Given the description of an element on the screen output the (x, y) to click on. 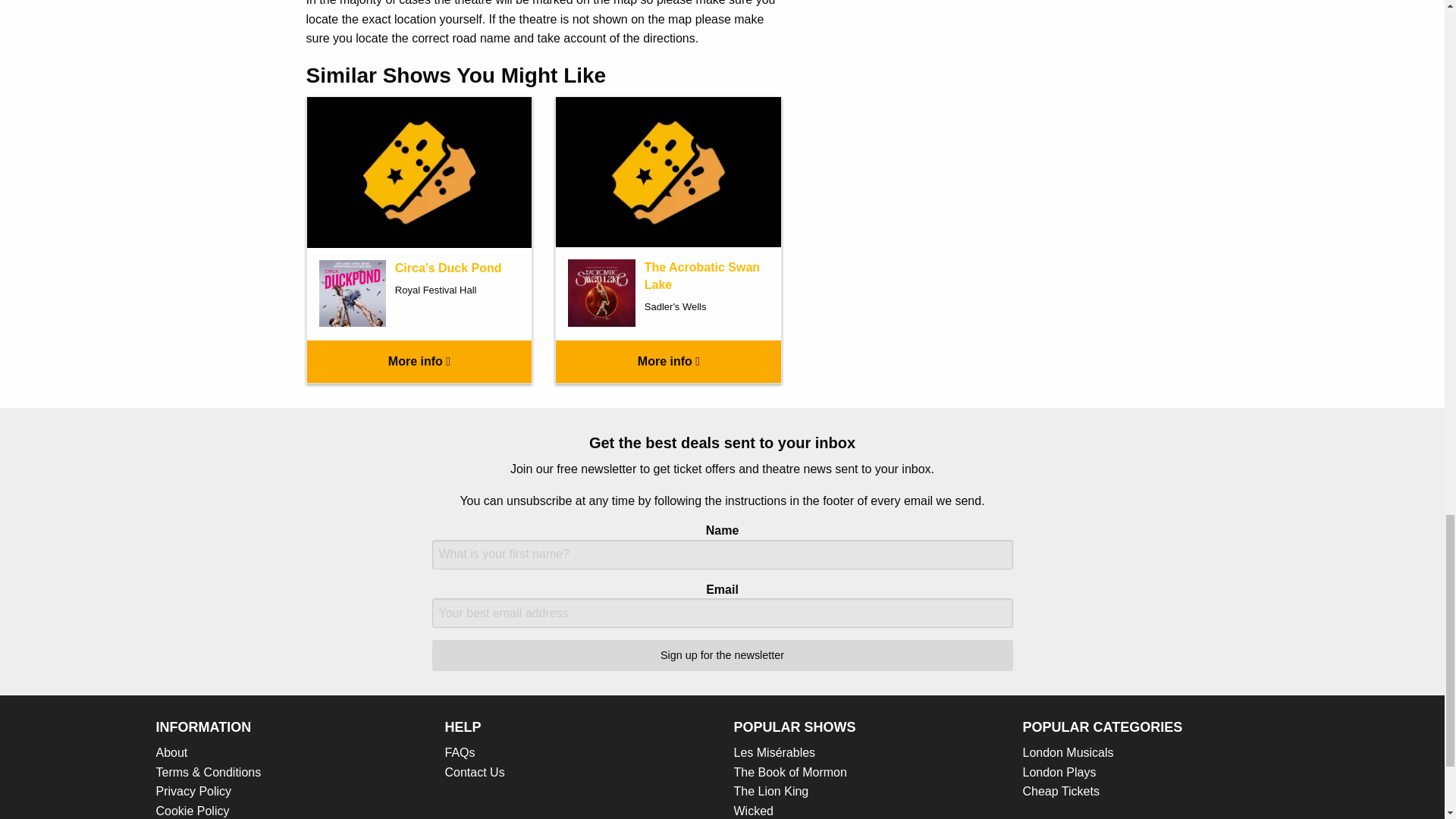
More info  (418, 361)
More info  (668, 361)
The Acrobatic Swan Lake (702, 275)
